Given the description of an element on the screen output the (x, y) to click on. 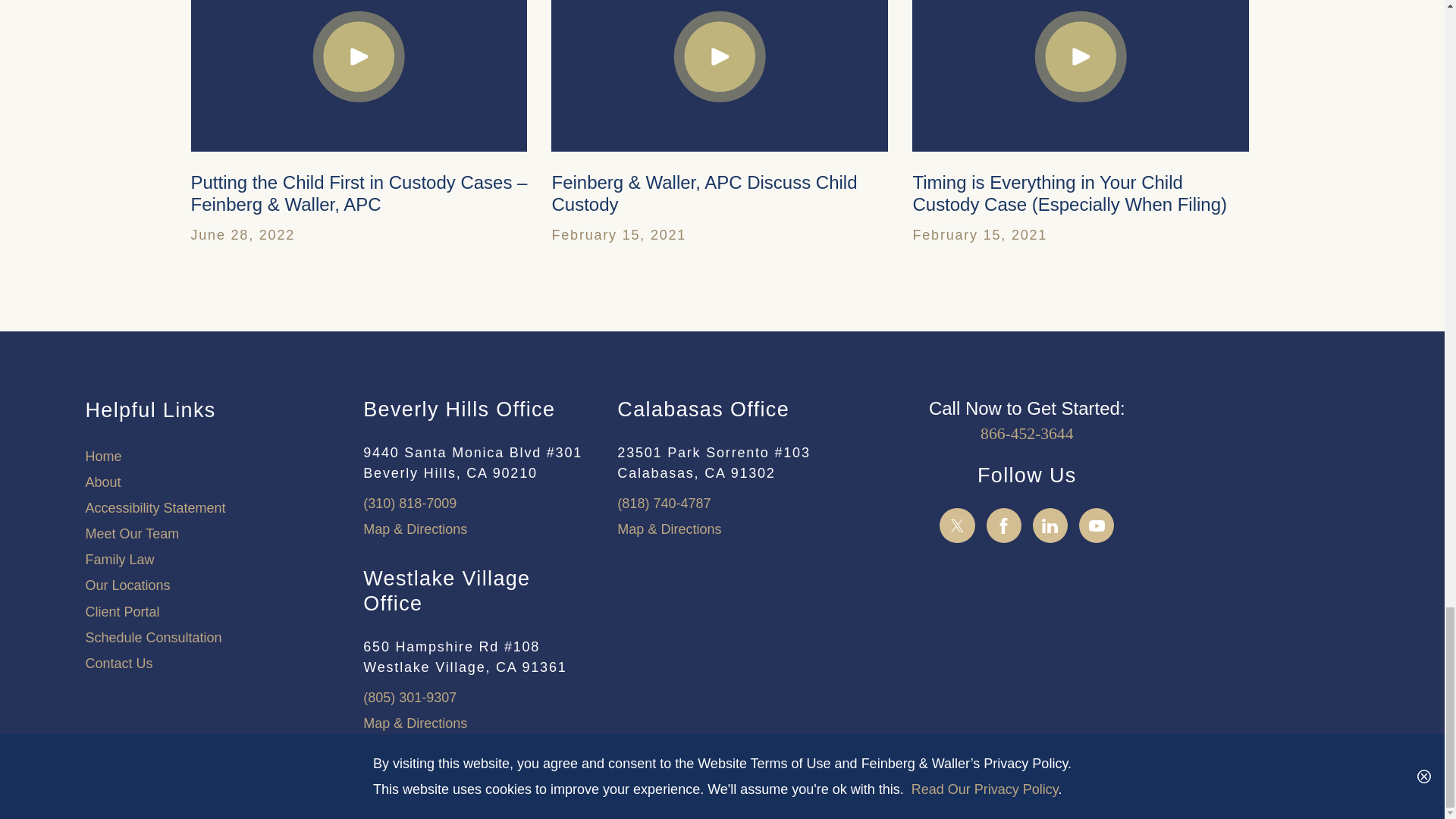
Facebook (1003, 525)
Twitter (957, 525)
LinkedIn (1050, 525)
